Given the description of an element on the screen output the (x, y) to click on. 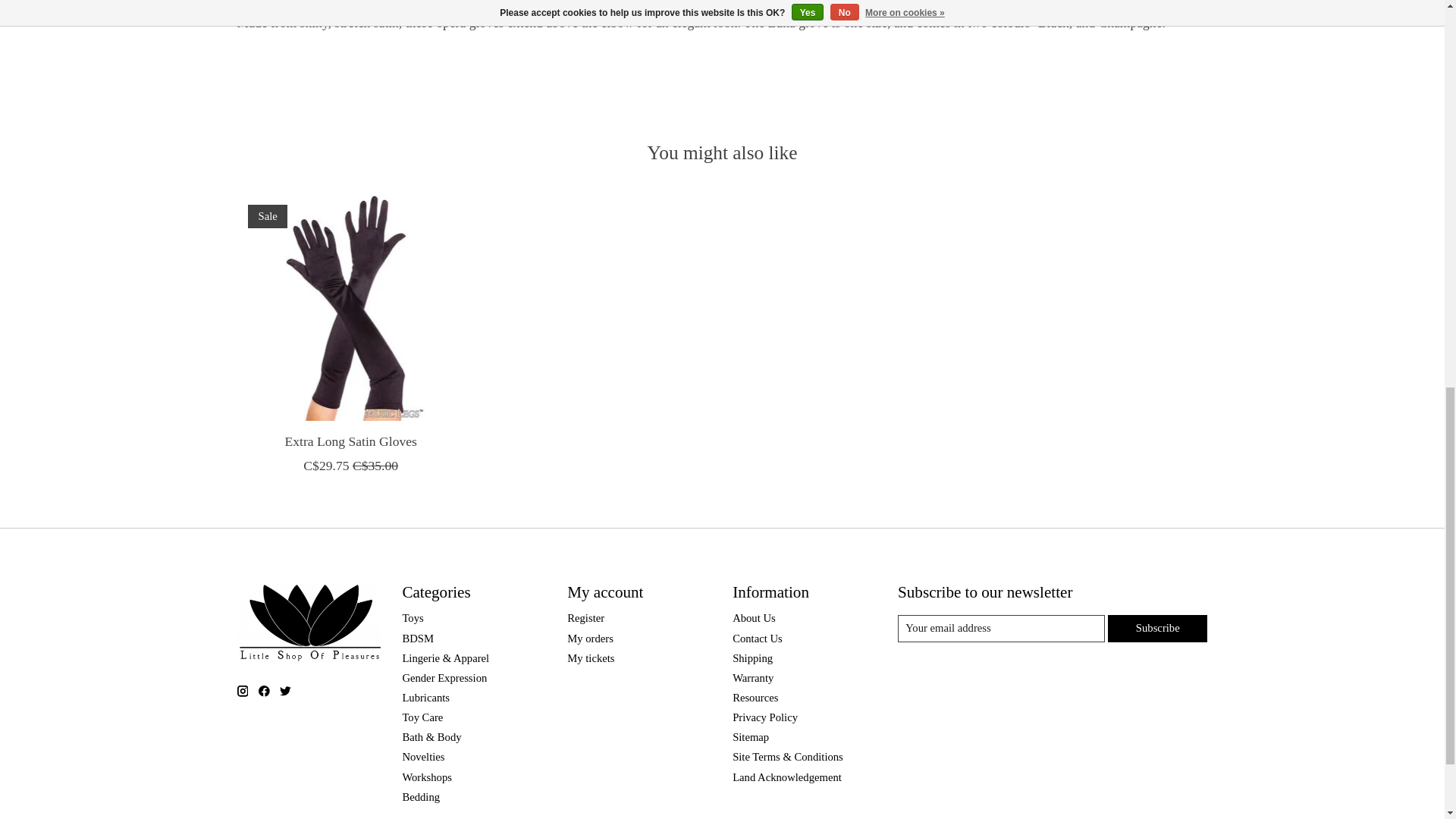
Sitemap (750, 736)
Privacy Policy (764, 717)
Contact Us (757, 638)
My orders (589, 638)
Land Acknowledgement (786, 776)
Shipping (752, 657)
Register (585, 617)
About Us (754, 617)
Resources (754, 697)
My tickets (590, 657)
